Given the description of an element on the screen output the (x, y) to click on. 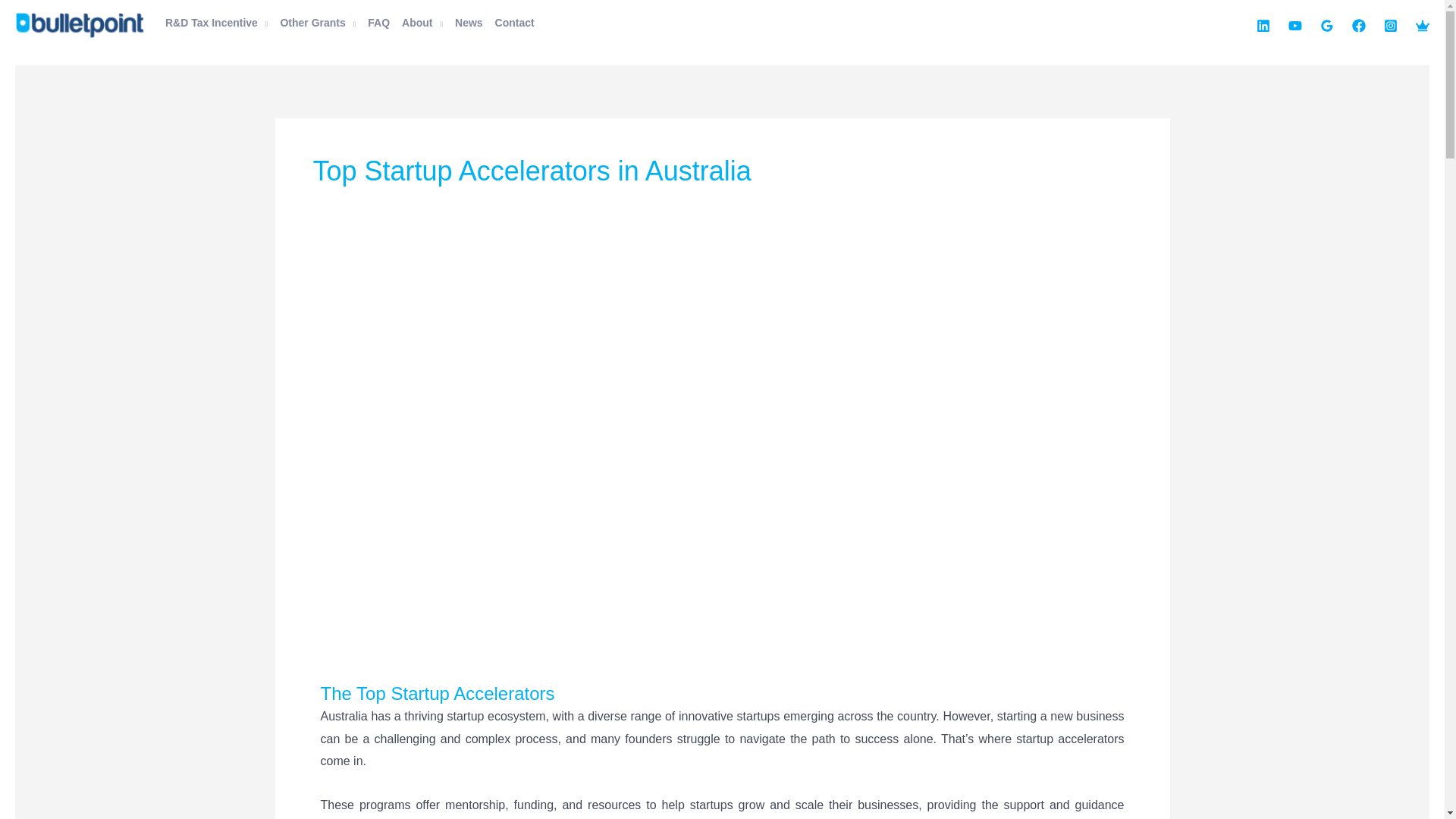
Contact (514, 23)
Other Grants (317, 23)
News (468, 23)
About (422, 23)
FAQ (378, 23)
